Given the description of an element on the screen output the (x, y) to click on. 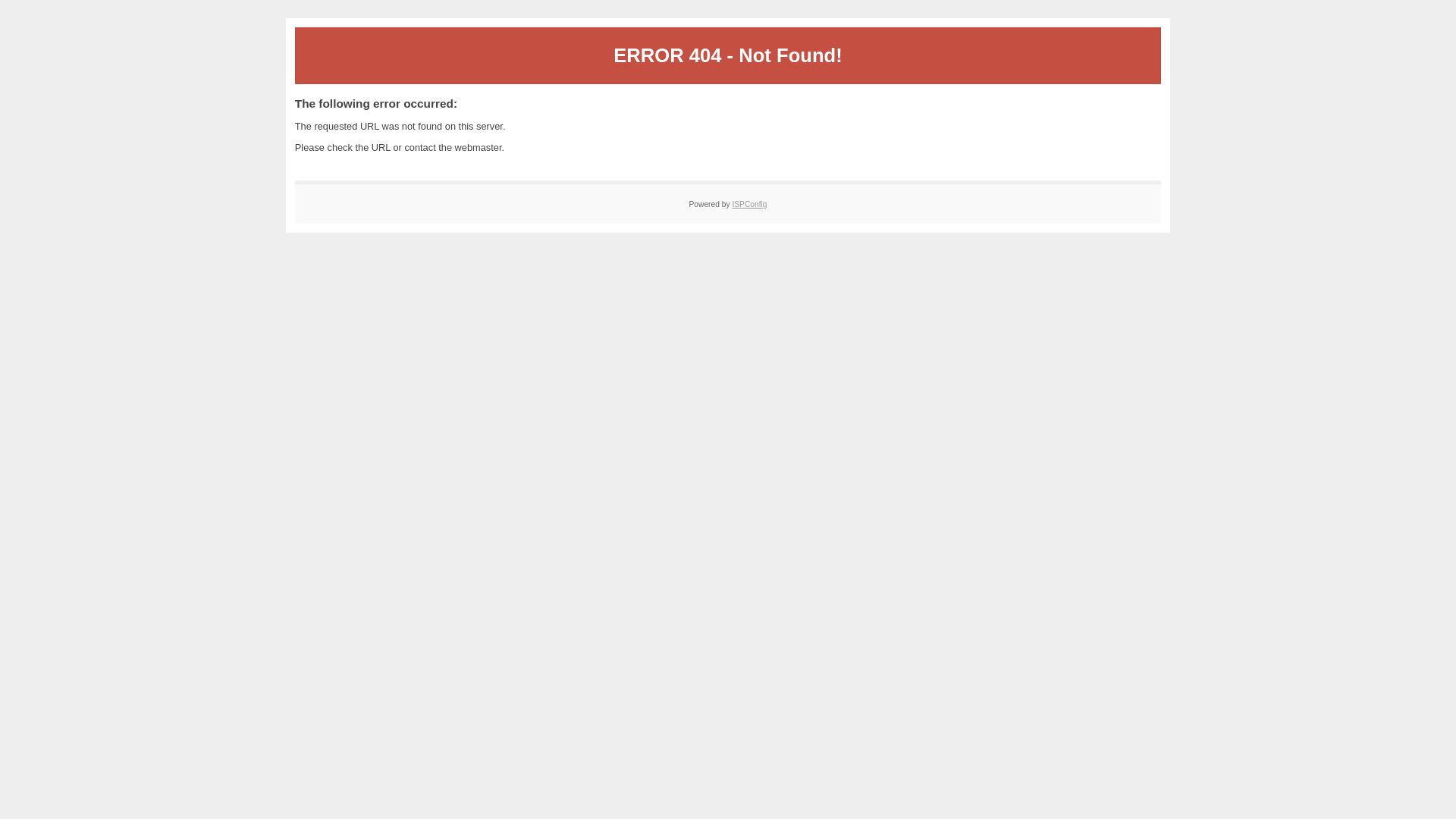
ISPConfig Element type: text (748, 204)
